Given the description of an element on the screen output the (x, y) to click on. 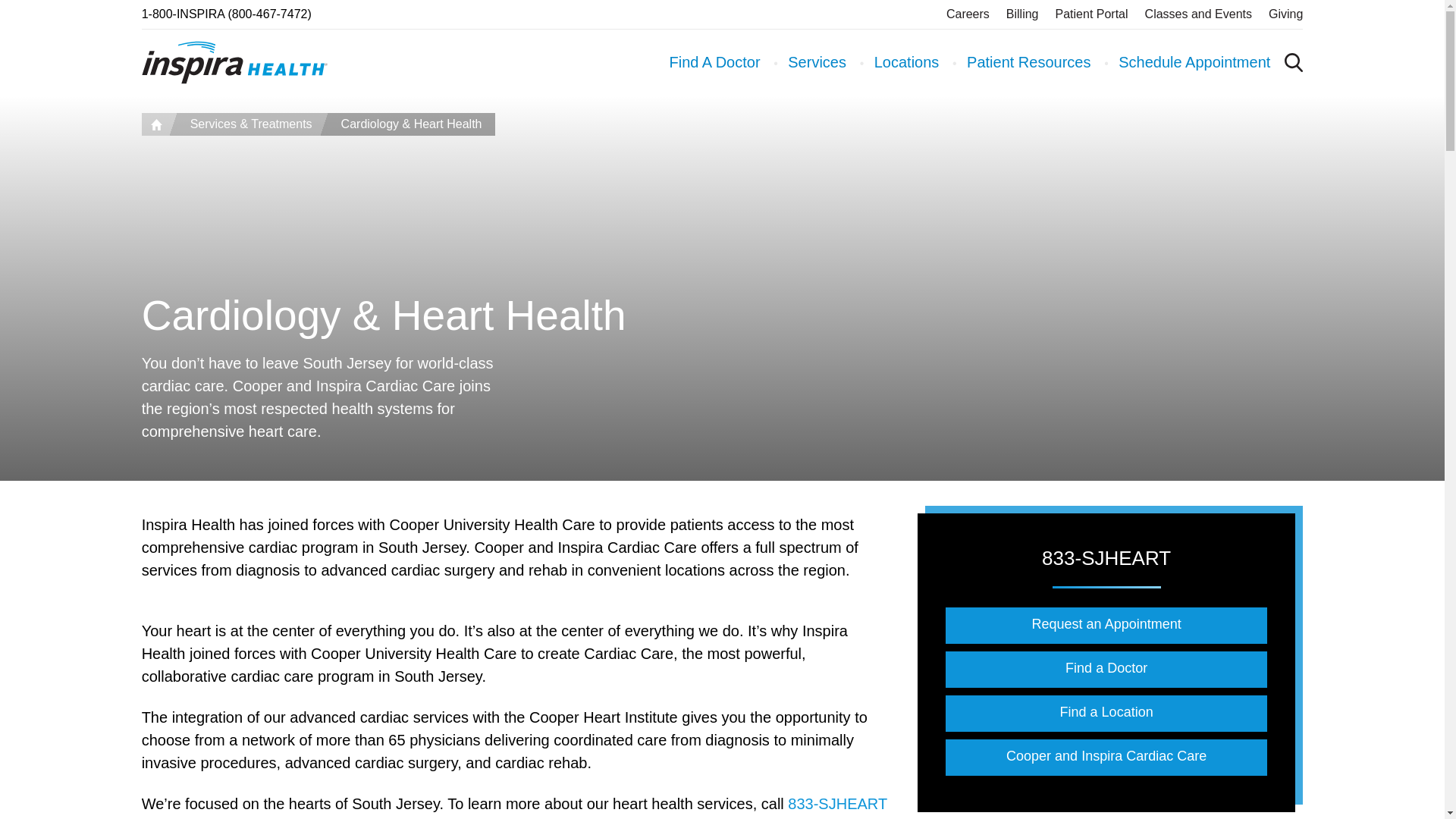
Call Inspira (226, 14)
Classes and Events (1198, 13)
Home (154, 124)
Find A Doctor (714, 62)
Schedule Appointment (1193, 62)
833-SJHEART (836, 803)
Patient Portal (1091, 13)
Billing (1022, 13)
Giving (1285, 13)
Search (1214, 180)
Open the Search Overlay (1293, 62)
Careers (968, 13)
Services (816, 62)
Return to Homepage (234, 62)
